Given the description of an element on the screen output the (x, y) to click on. 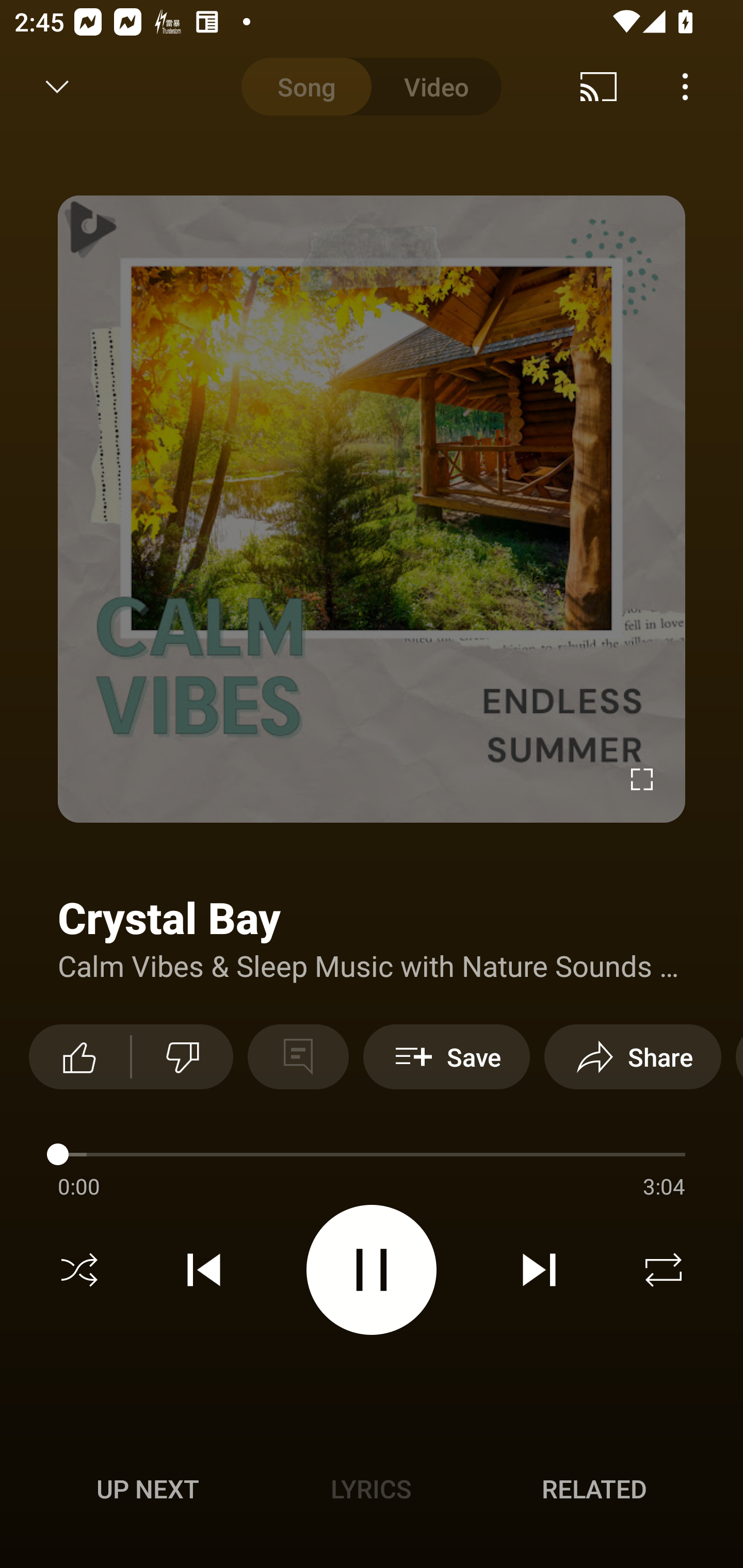
Minimize (57, 86)
Share (605, 86)
Search (692, 86)
Like (79, 1056)
Dislike (182, 1056)
Comments disabled. (297, 1056)
Save Save to playlist (446, 1056)
Share (632, 1056)
Pause video (371, 1269)
Shuffle off (79, 1269)
Previous track (203, 1269)
Next track (538, 1269)
Repeat off (663, 1269)
Up next UP NEXT Lyrics LYRICS Related RELATED (371, 1491)
Lyrics LYRICS (370, 1488)
Related RELATED (594, 1488)
